Given the description of an element on the screen output the (x, y) to click on. 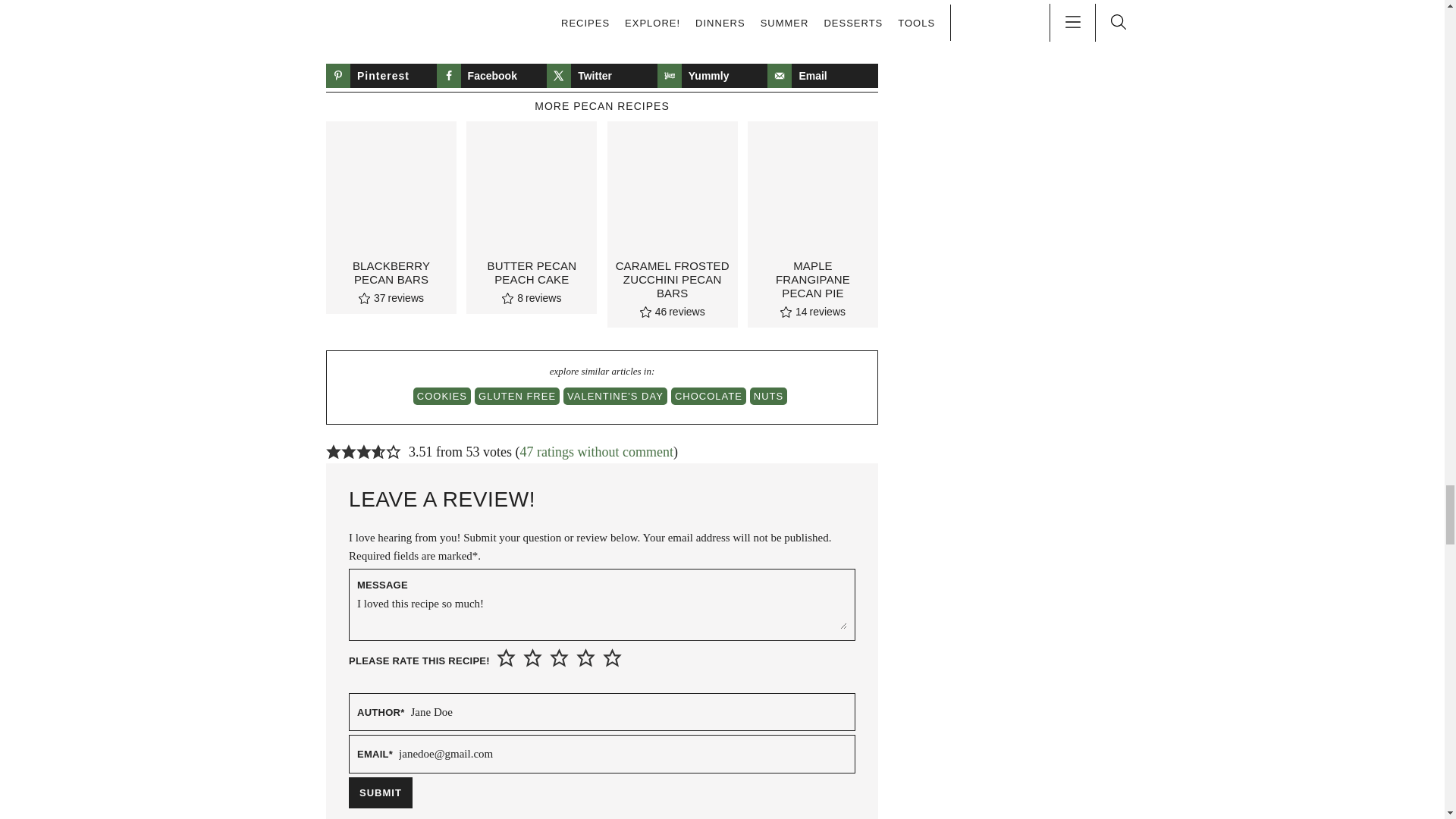
Share on X (602, 75)
Share on Yummly (713, 75)
Share on Facebook (491, 75)
Save to Pinterest (381, 75)
Submit (380, 792)
Send over email (822, 75)
